Given the description of an element on the screen output the (x, y) to click on. 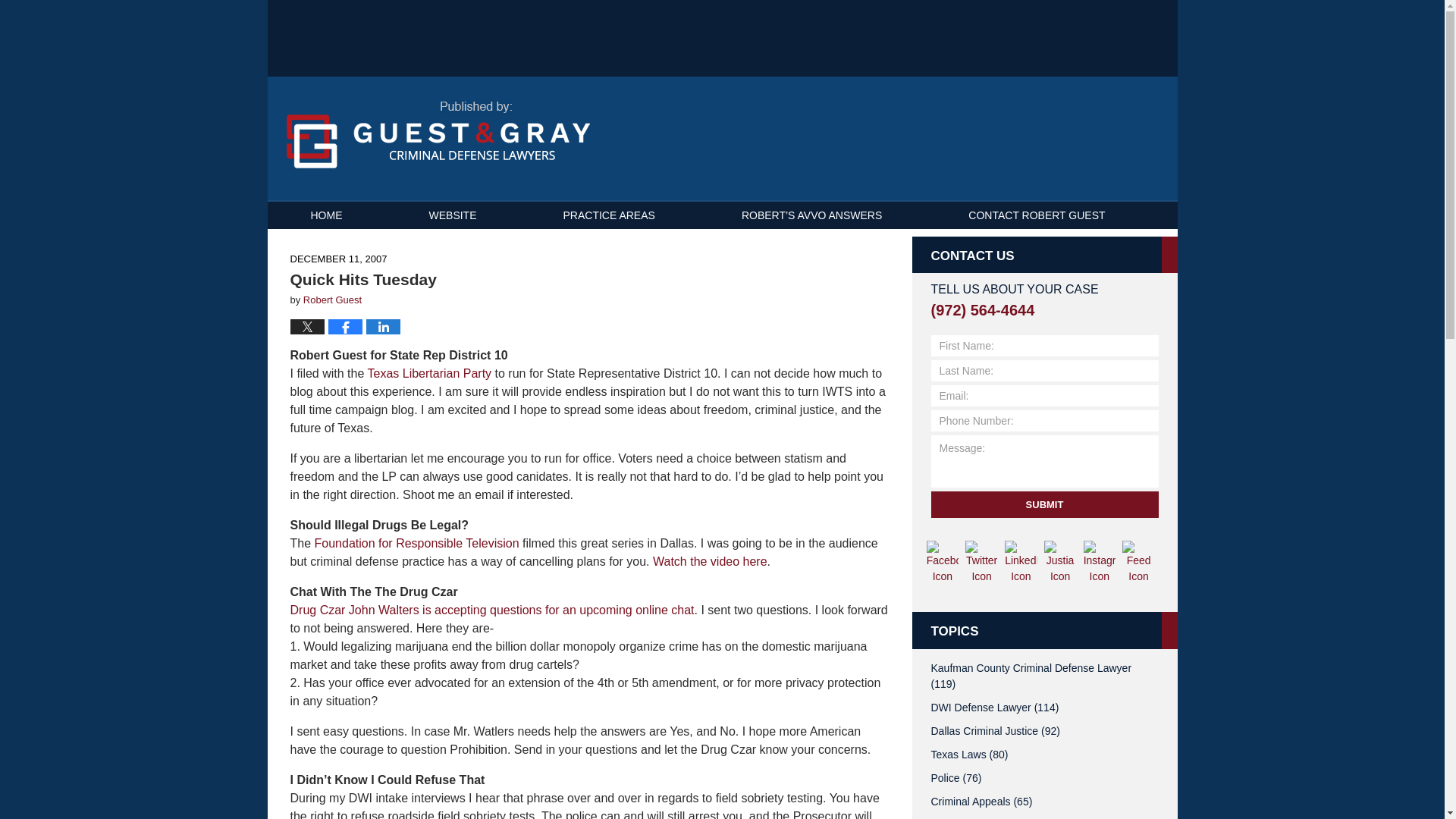
HOME (325, 215)
Foundation for Responsible Television (416, 543)
DALLAS CRIMINAL DEFENSE LAWYER BLOG (722, 38)
SUBMIT (1044, 504)
Robert Guest (331, 299)
WEBSITE (452, 215)
Published By Robert Guest (1060, 140)
CONTACT ROBERT GUEST (1036, 215)
Texas Libertarian Party (430, 373)
PRACTICE AREAS (608, 215)
